Given the description of an element on the screen output the (x, y) to click on. 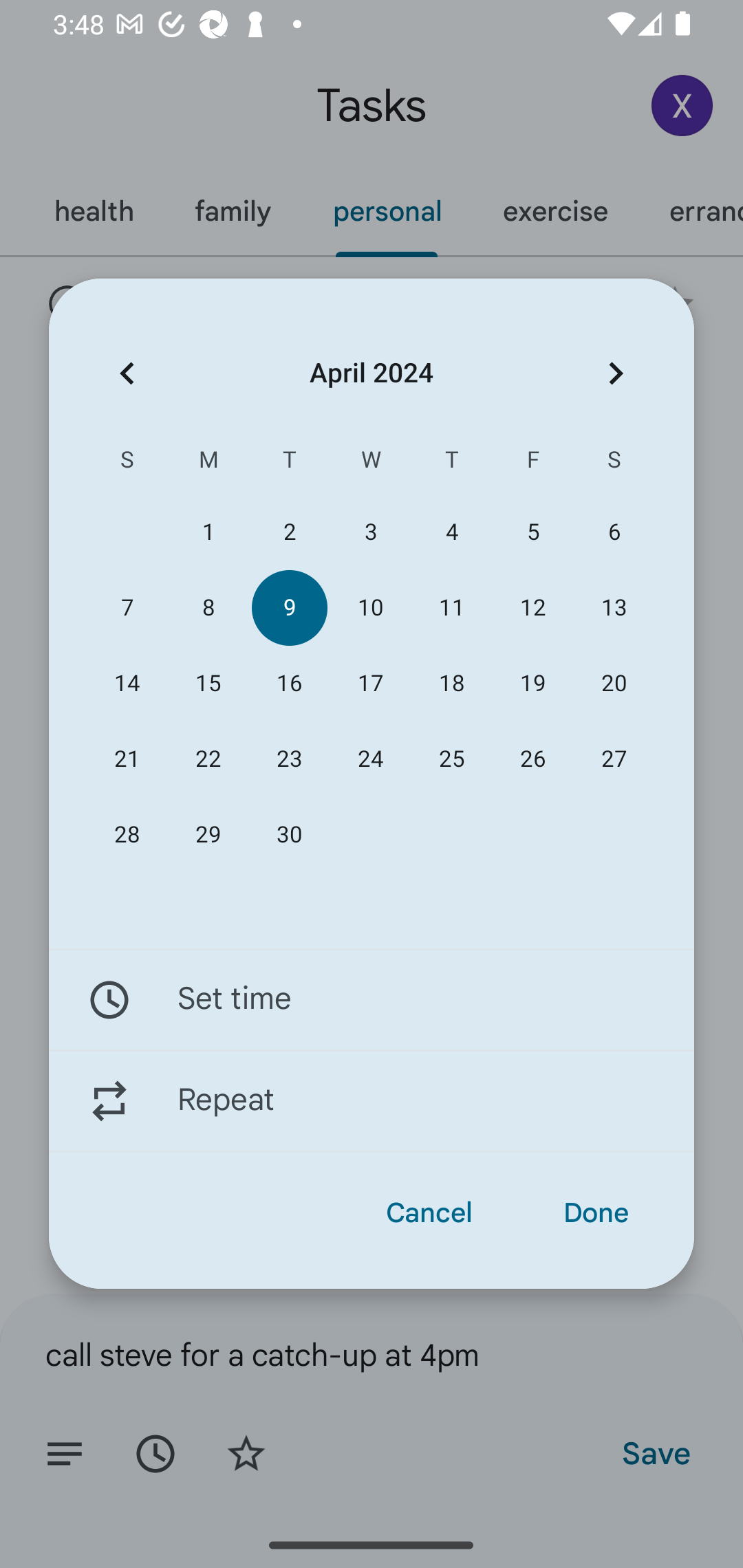
Previous month (126, 372)
Next month (615, 372)
1 01 April 2024 (207, 531)
2 02 April 2024 (288, 531)
3 03 April 2024 (370, 531)
4 04 April 2024 (451, 531)
5 05 April 2024 (532, 531)
6 06 April 2024 (613, 531)
7 07 April 2024 (126, 608)
8 08 April 2024 (207, 608)
9 09 April 2024 (288, 608)
10 10 April 2024 (370, 608)
11 11 April 2024 (451, 608)
12 12 April 2024 (532, 608)
13 13 April 2024 (613, 608)
14 14 April 2024 (126, 683)
15 15 April 2024 (207, 683)
16 16 April 2024 (288, 683)
17 17 April 2024 (370, 683)
18 18 April 2024 (451, 683)
19 19 April 2024 (532, 683)
20 20 April 2024 (613, 683)
21 21 April 2024 (126, 758)
22 22 April 2024 (207, 758)
23 23 April 2024 (288, 758)
24 24 April 2024 (370, 758)
25 25 April 2024 (451, 758)
26 26 April 2024 (532, 758)
27 27 April 2024 (613, 758)
28 28 April 2024 (126, 834)
29 29 April 2024 (207, 834)
30 30 April 2024 (288, 834)
Set time (371, 999)
Repeat (371, 1101)
Cancel (429, 1213)
Done (595, 1213)
